Given the description of an element on the screen output the (x, y) to click on. 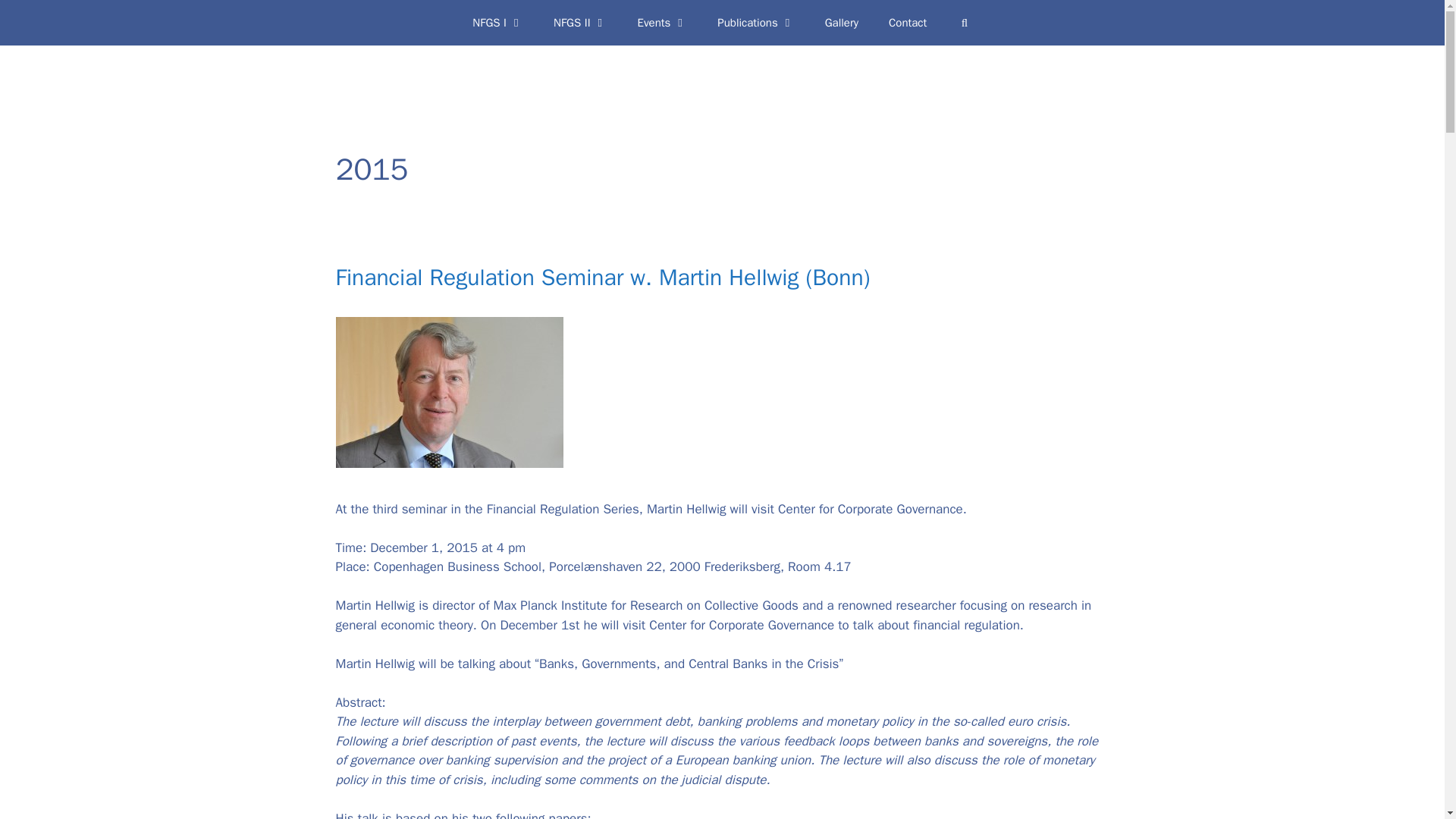
NFGS I (497, 22)
NFGS II (580, 22)
Events (663, 22)
Gallery (841, 22)
Publications (755, 22)
Contact (907, 22)
